Given the description of an element on the screen output the (x, y) to click on. 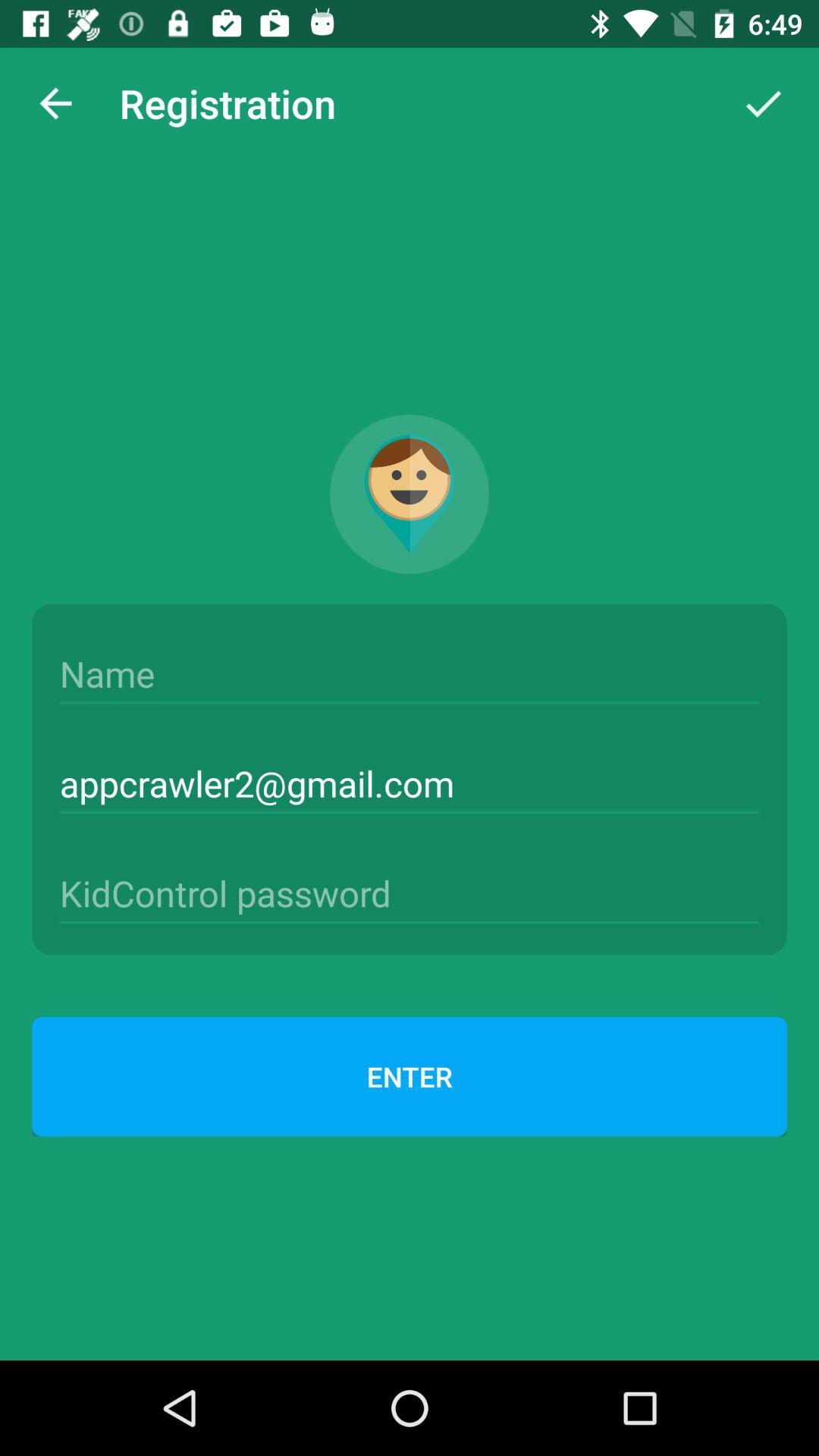
enter password (409, 894)
